Given the description of an element on the screen output the (x, y) to click on. 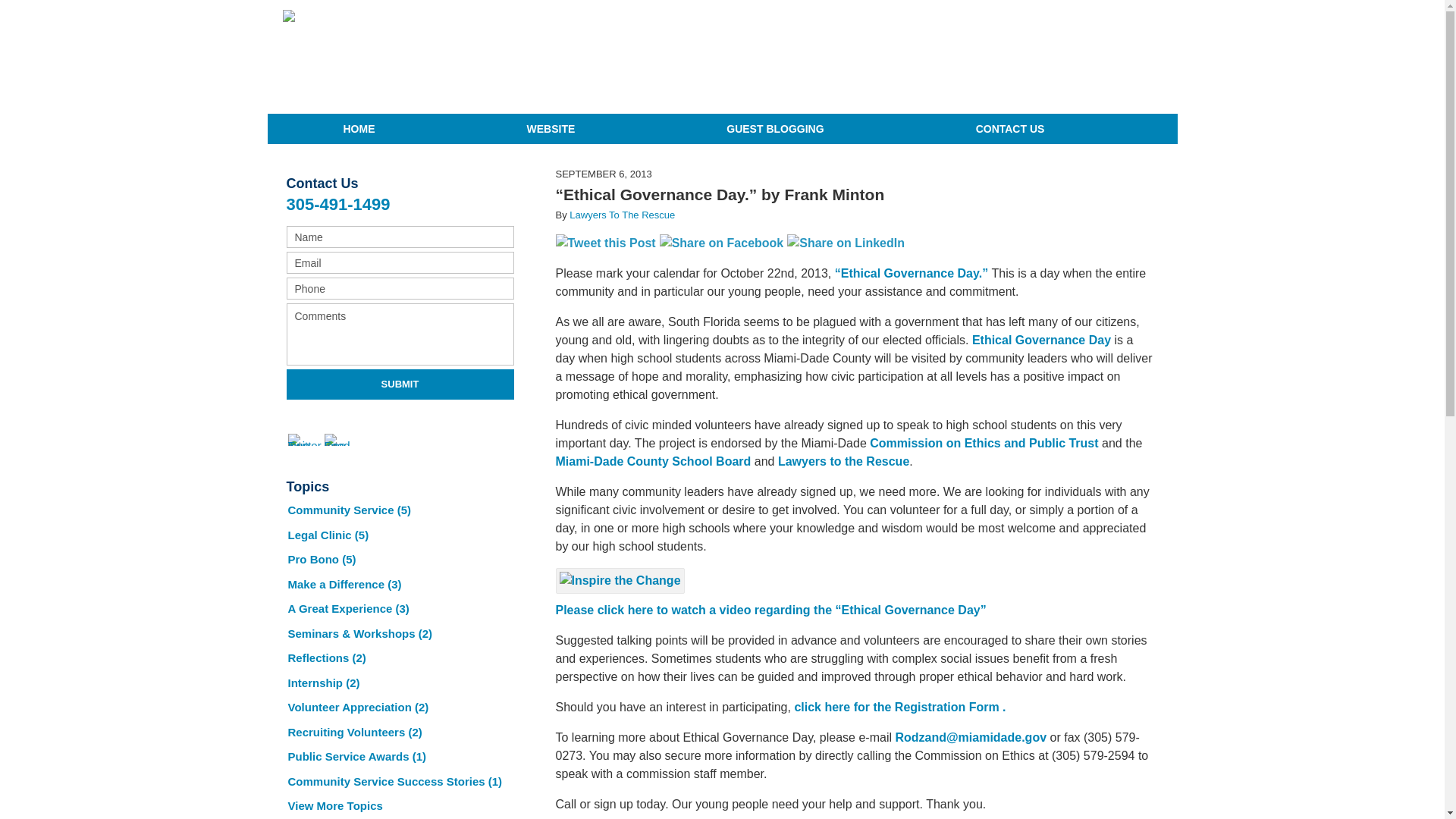
Commission on Ethics and Public Trust (985, 442)
WEBSITE (549, 128)
click here for the Registration Form . (899, 707)
Please enter a valid phone number. (399, 288)
Published By Lawyers To The Rescue (1092, 57)
HOME (357, 128)
Feed (341, 439)
Lawyers to the Rescue (842, 461)
Miami-Dade County School Board (652, 461)
Ethical Governance Day (1041, 339)
